Given the description of an element on the screen output the (x, y) to click on. 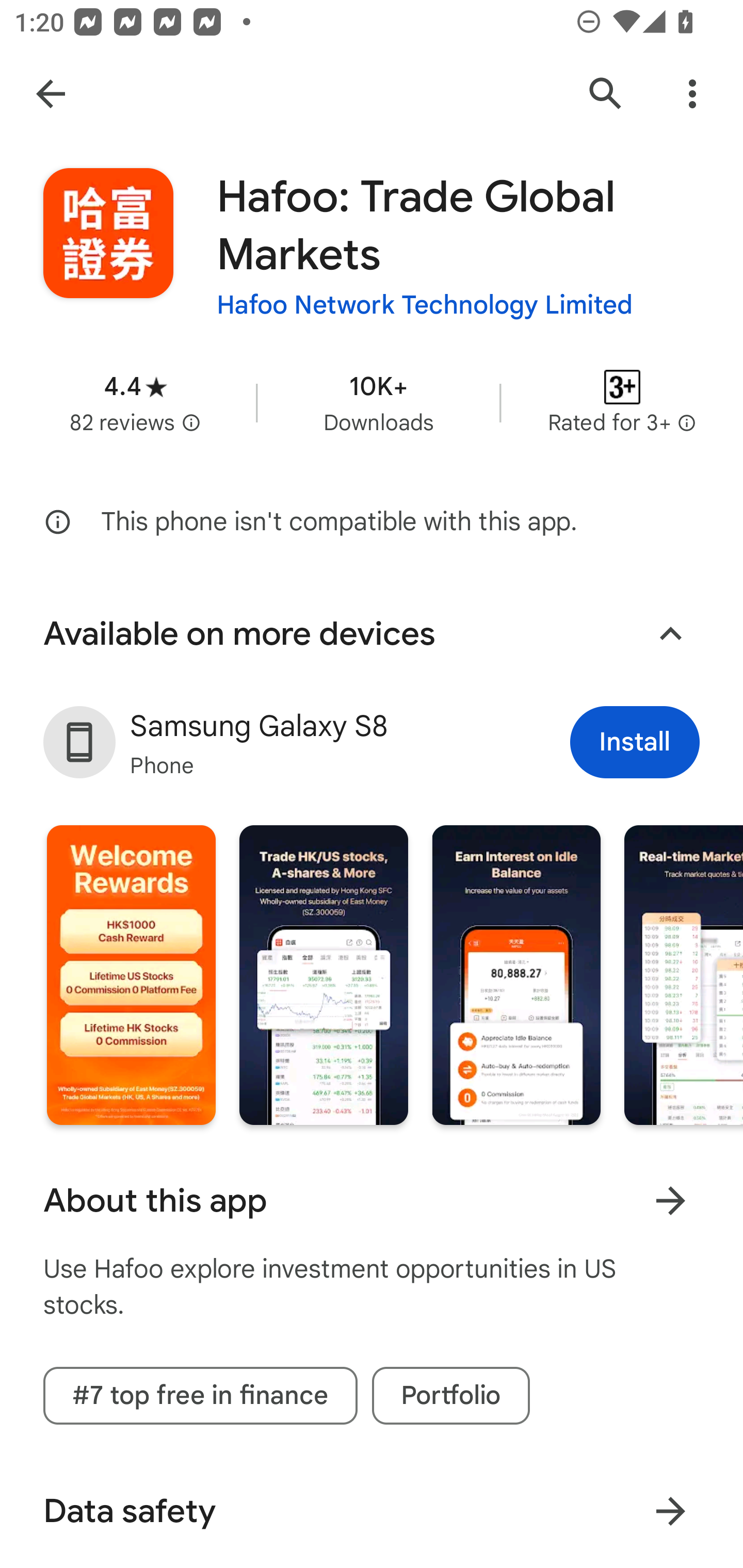
Navigate up (50, 93)
Search Google Play (605, 93)
More Options (692, 93)
Hafoo Network Technology Limited (424, 304)
Average rating 4.4 stars in 82 reviews (135, 402)
Content rating Rated for 3+ (622, 402)
Available on more devices Collapse (371, 634)
Collapse (670, 634)
Install (634, 742)
Screenshot "1" of "8" (130, 974)
Screenshot "2" of "8" (323, 974)
Screenshot "3" of "8" (515, 974)
Screenshot "4" of "8" (683, 974)
About this app Learn more About this app (371, 1200)
Learn more About this app (670, 1200)
#7 top free in finance tag (200, 1395)
Portfolio tag (450, 1395)
Data safety Learn more about data safety (371, 1511)
Learn more about data safety (670, 1510)
